Given the description of an element on the screen output the (x, y) to click on. 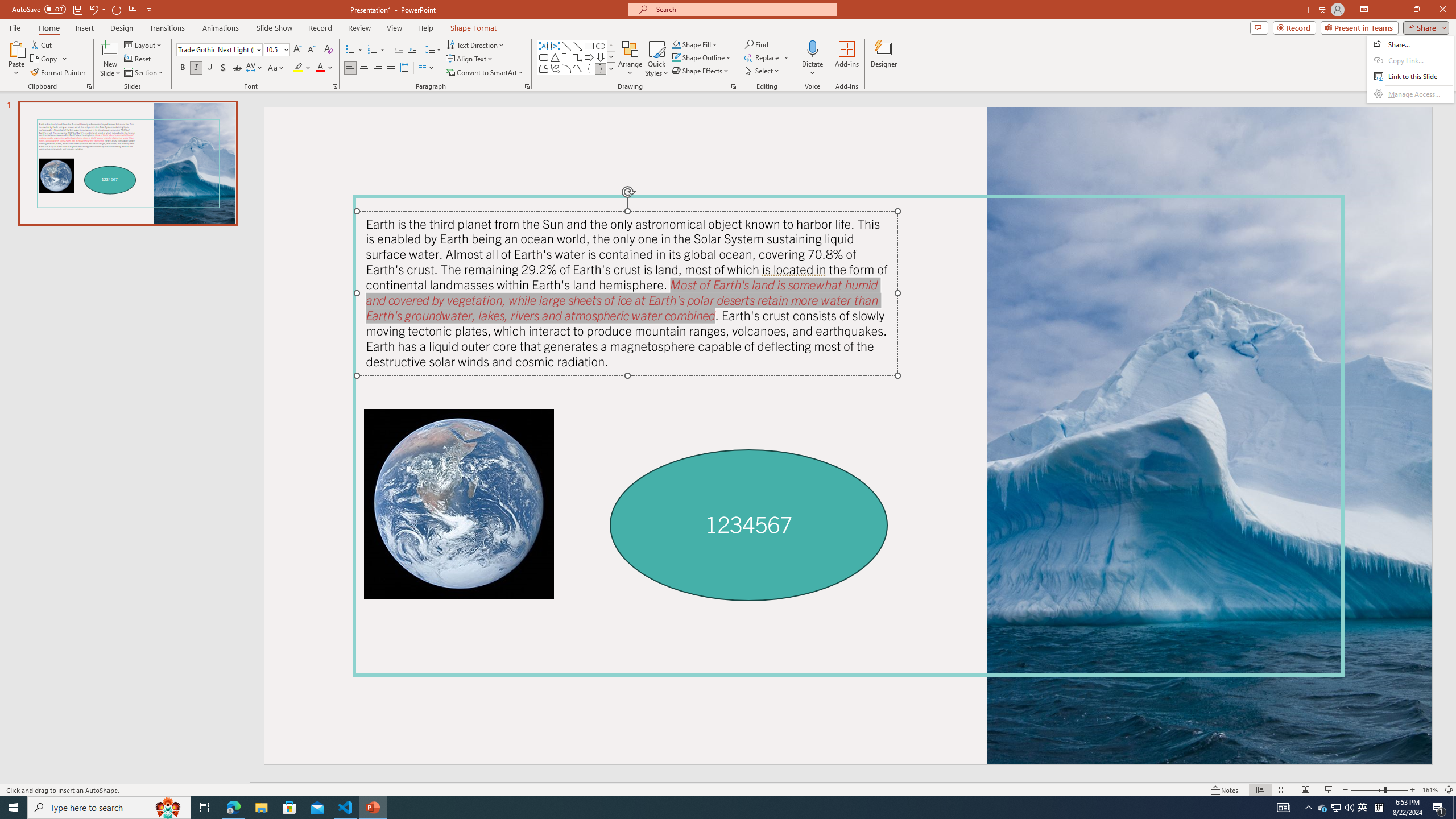
Shape Outline (701, 56)
